Given the description of an element on the screen output the (x, y) to click on. 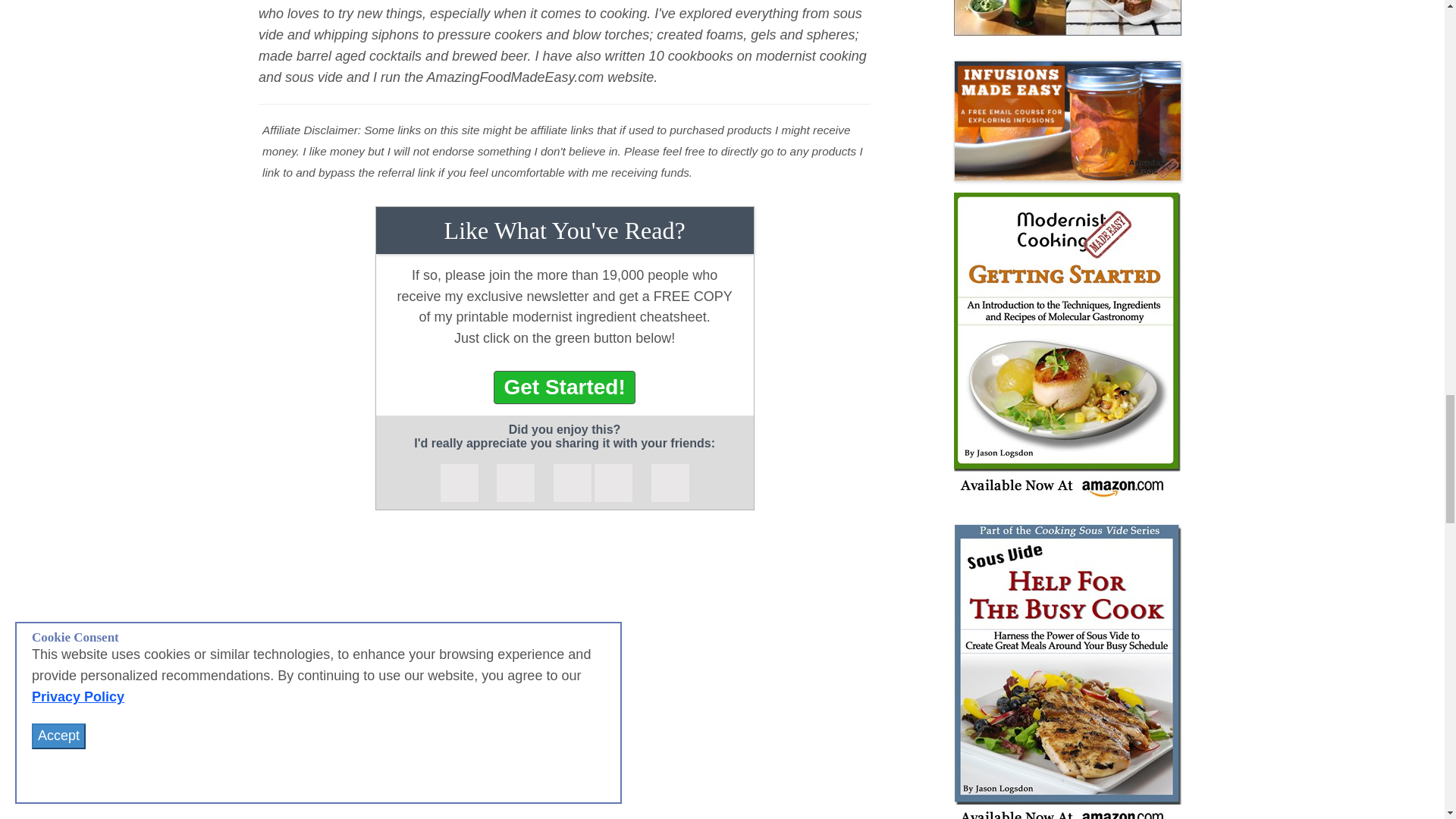
Party Foods book cover large (1066, 18)
Infusions lead magnet header.png (1066, 120)
Mcmcegs book side display2 (1066, 347)
Sous vide help book side display2 (1066, 671)
